Given the description of an element on the screen output the (x, y) to click on. 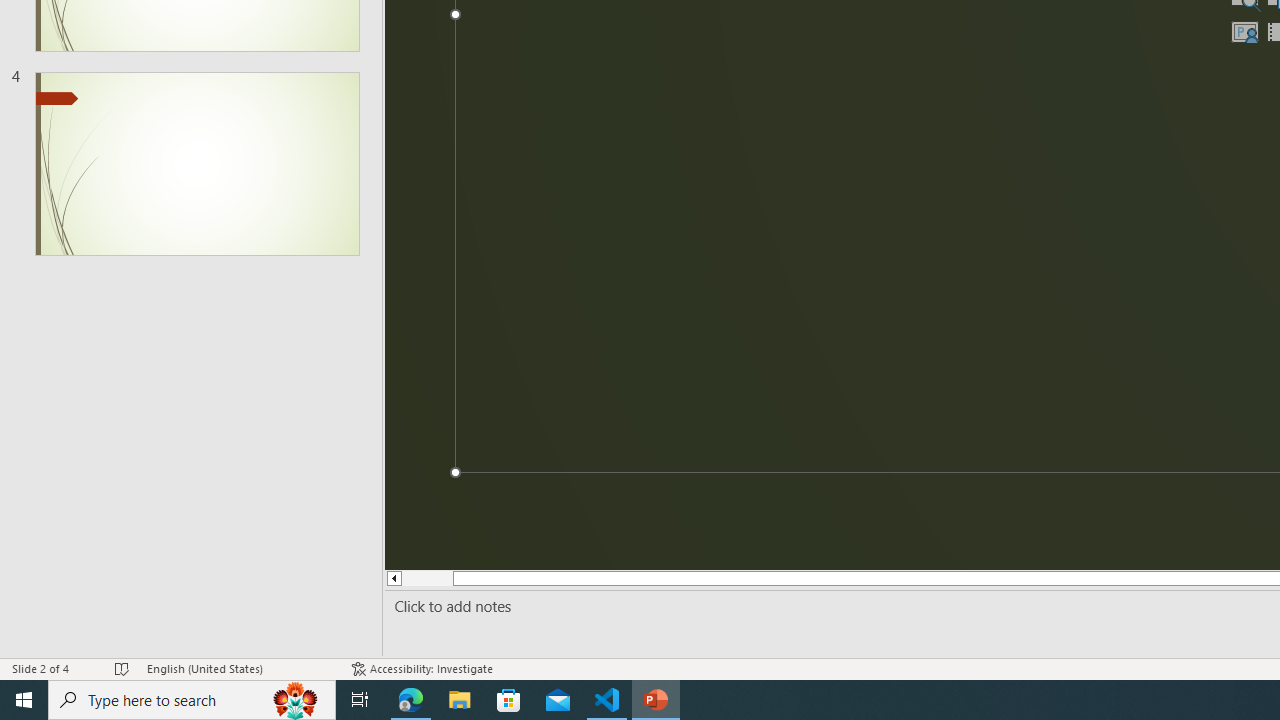
Insert Cameo (1244, 31)
